Given the description of an element on the screen output the (x, y) to click on. 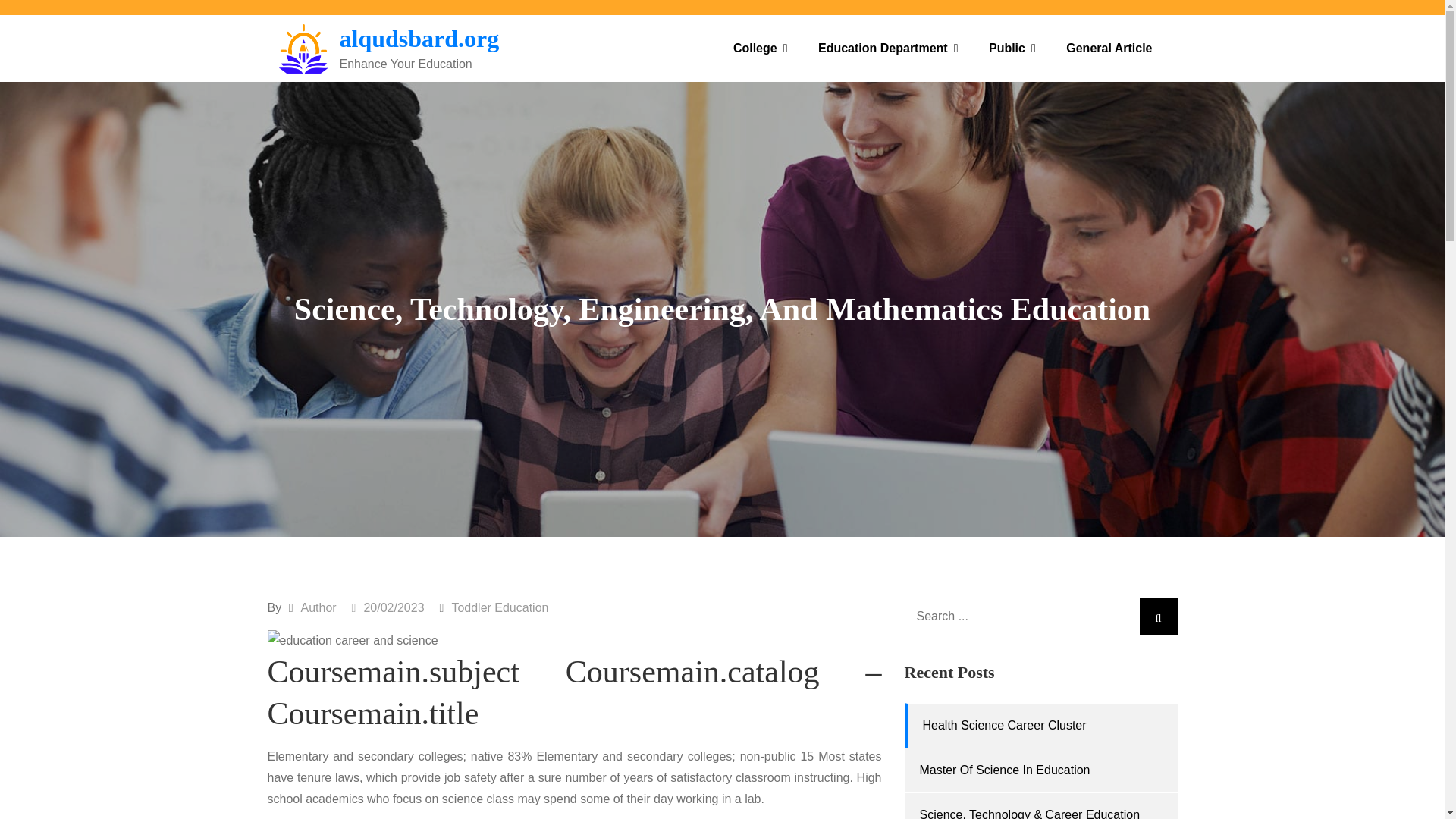
Education Department (888, 48)
Search (1157, 616)
Search for: (1040, 616)
Public (1012, 48)
Author (317, 607)
College (760, 48)
alqudsbard.org (419, 38)
General Article (1109, 48)
Toddler Education (499, 607)
